Given the description of an element on the screen output the (x, y) to click on. 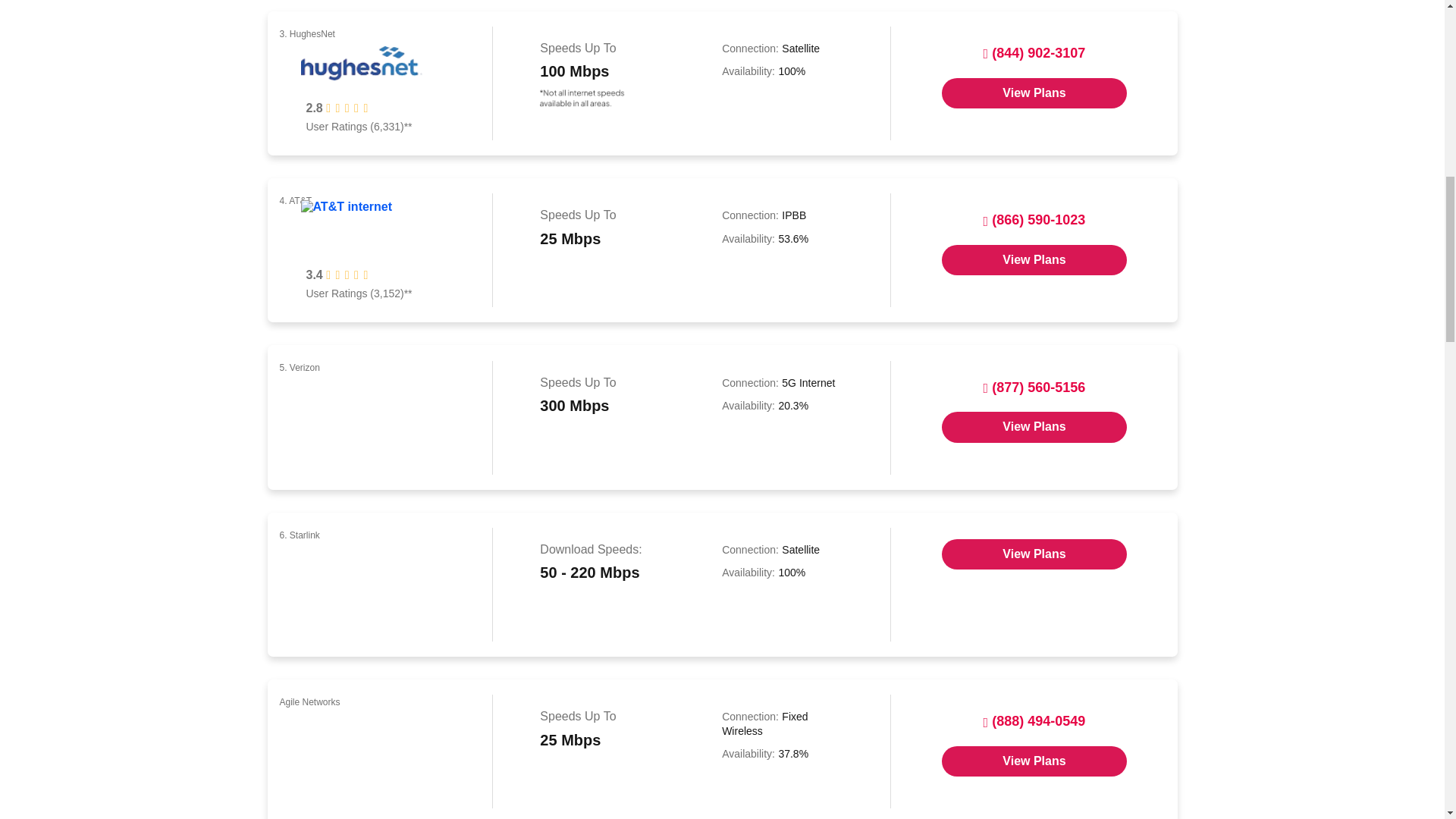
Opens in a new window (1034, 259)
Opens in a new window (1034, 92)
Opens in a new window (1034, 553)
Opens in a new window (1034, 426)
